Given the description of an element on the screen output the (x, y) to click on. 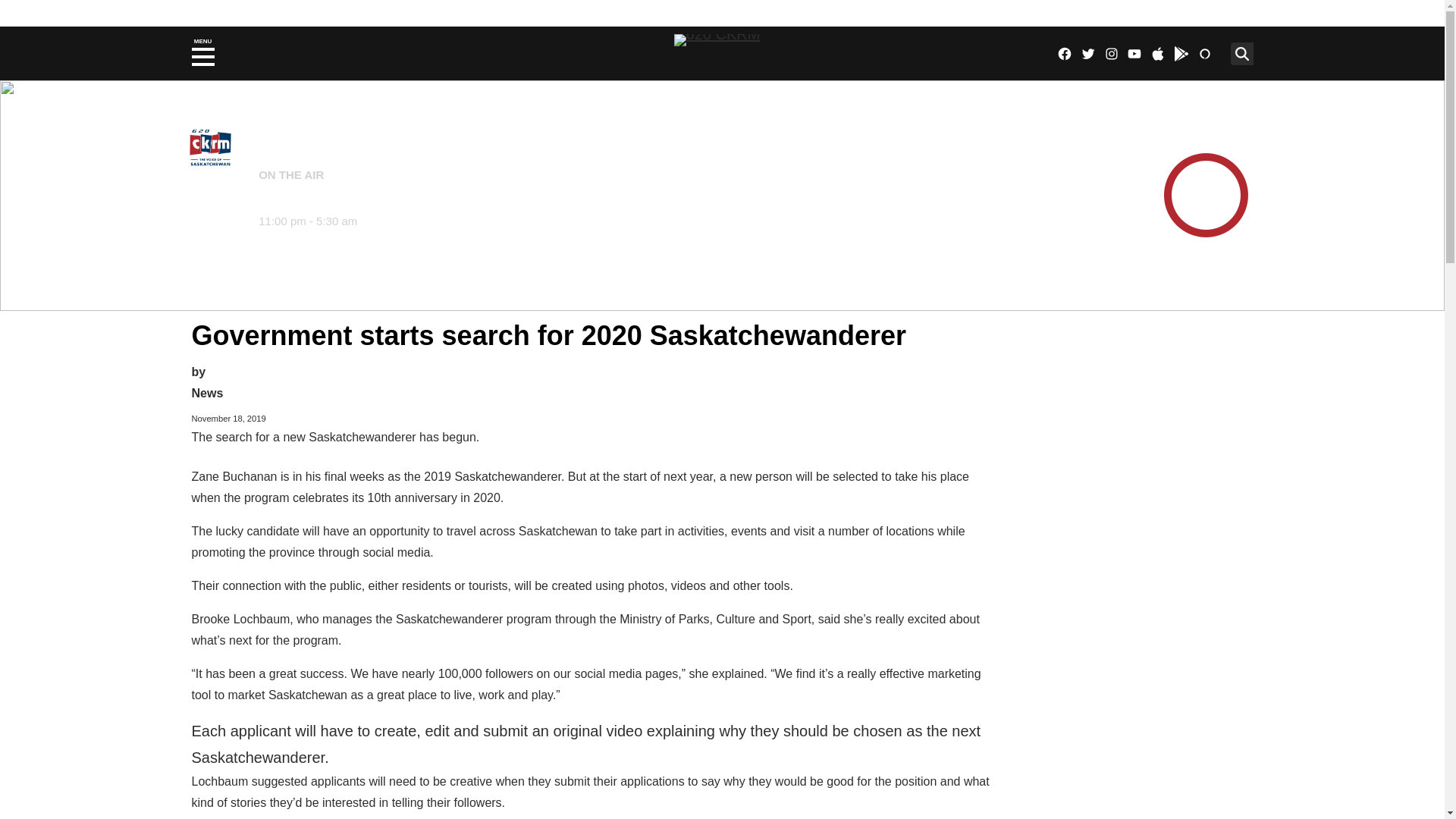
3rd party ad content (1135, 405)
